Given the description of an element on the screen output the (x, y) to click on. 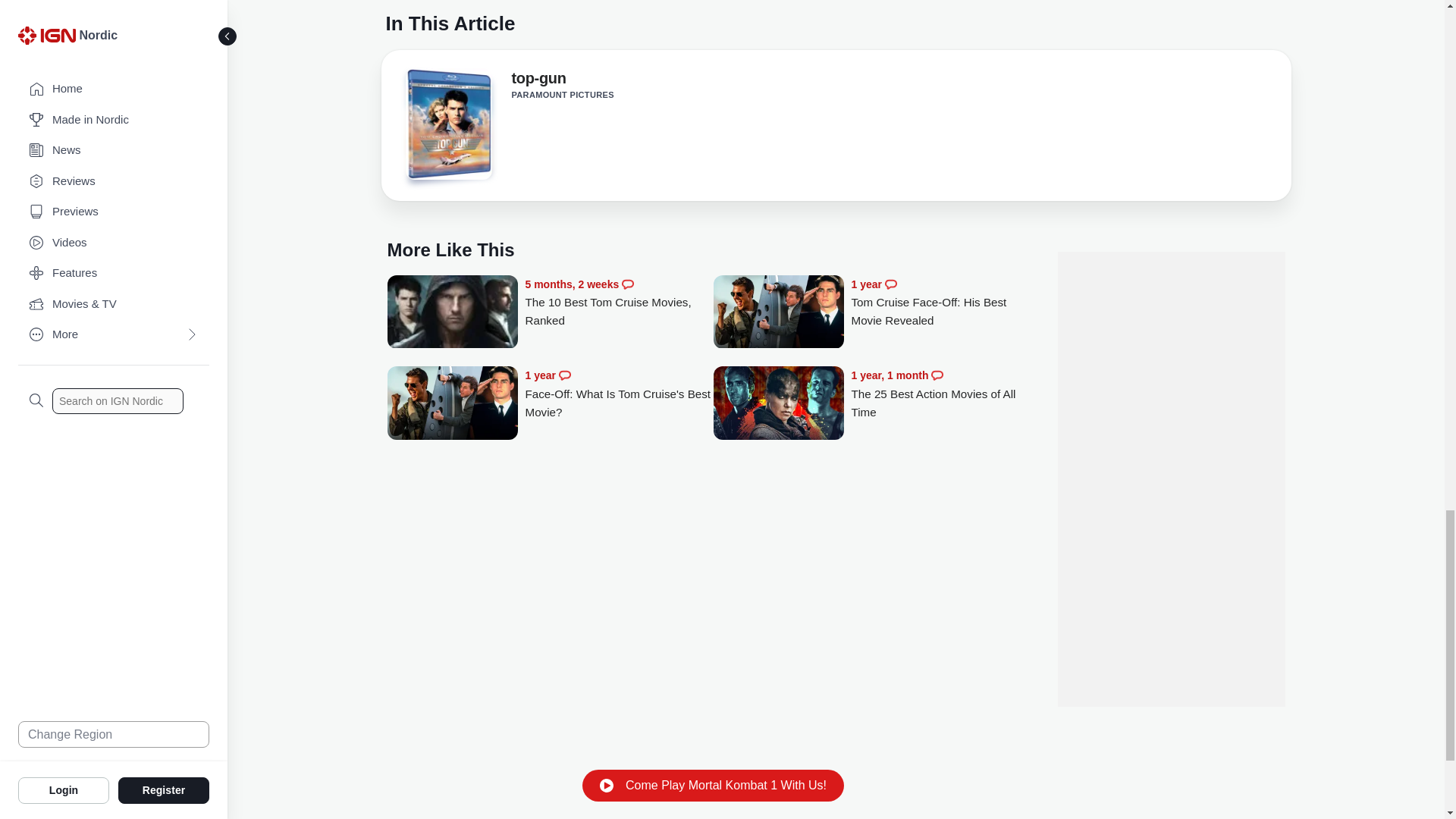
The 10 Best Tom Cruise Movies, Ranked (618, 302)
Face-Off: What Is Tom Cruise's Best Movie? (451, 404)
Tom Cruise Face-Off: His Best Movie Revealed (944, 302)
top-gun (538, 80)
The 10 Best Tom Cruise Movies, Ranked (451, 313)
Comments (937, 375)
The 25 Best Action Movies of All Time (944, 393)
Comments (564, 375)
Comments (890, 284)
Comments (627, 284)
Tom Cruise Face-Off: His Best Movie Revealed (778, 313)
The 25 Best Action Movies of All Time (778, 404)
Face-Off: What Is Tom Cruise's Best Movie? (618, 393)
